Given the description of an element on the screen output the (x, y) to click on. 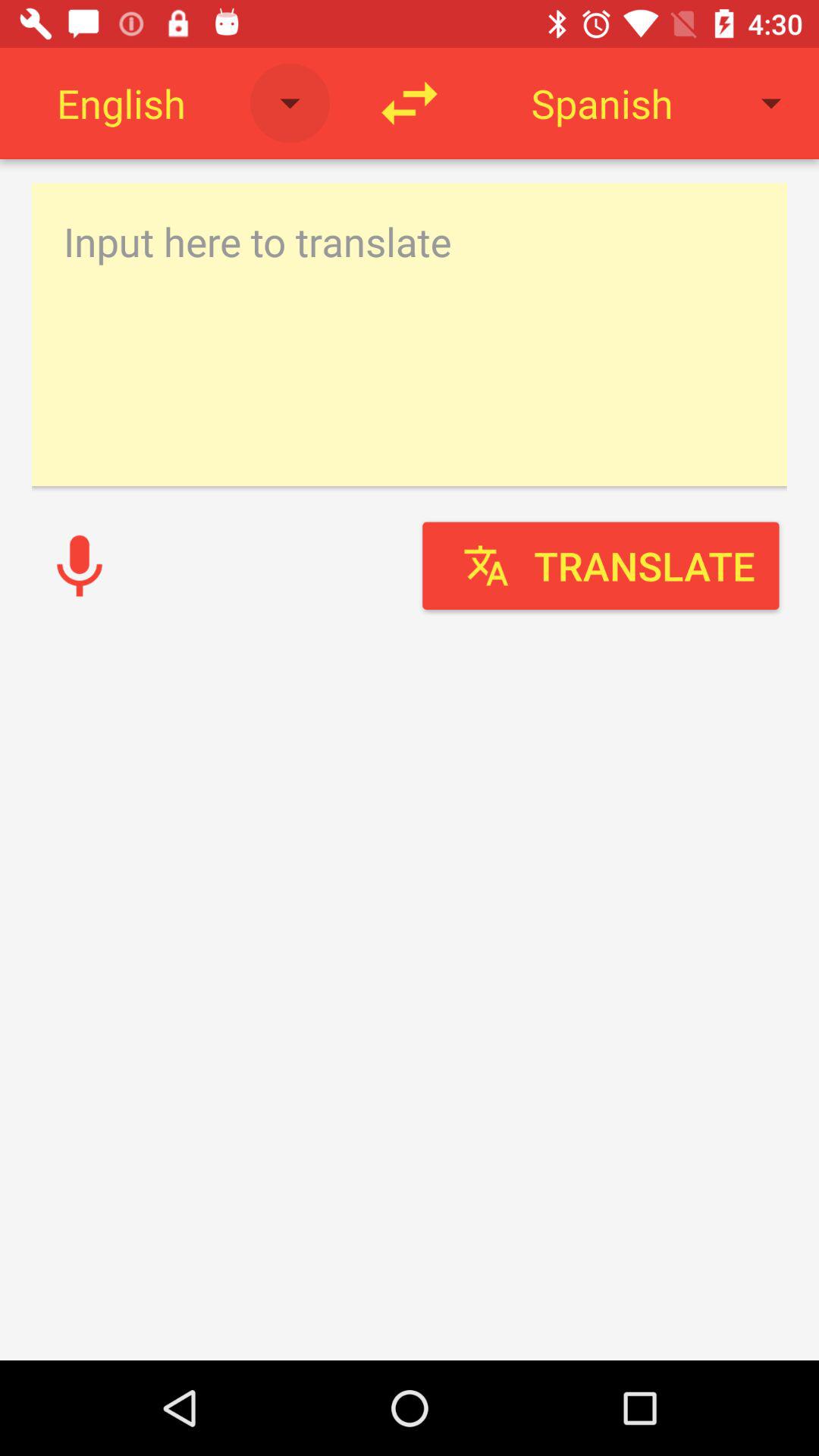
text input (409, 334)
